Given the description of an element on the screen output the (x, y) to click on. 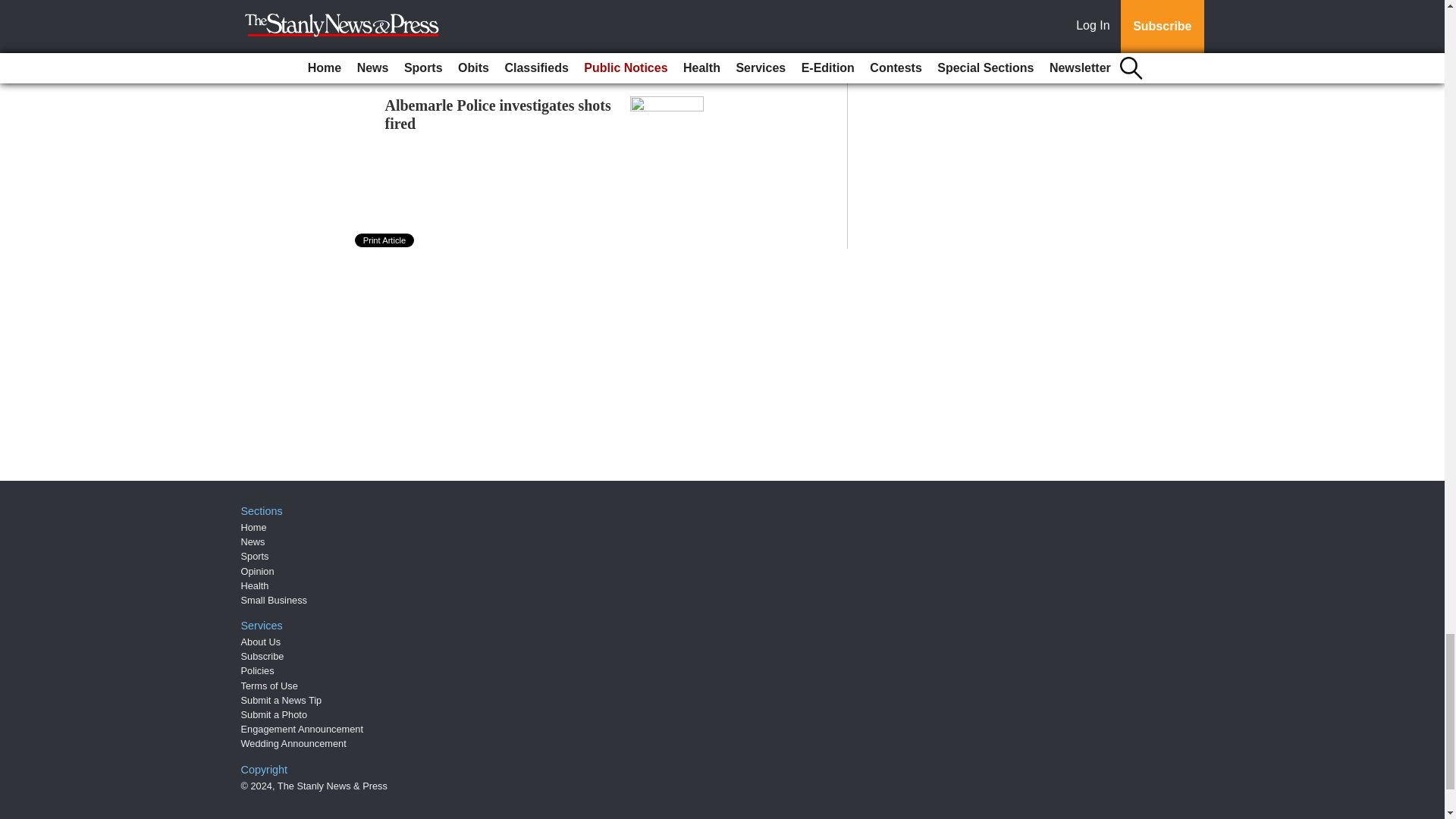
Albemarle Police investigates shots fired (498, 114)
Print Article (384, 240)
Albemarle Police investigates shots fired (498, 114)
